Given the description of an element on the screen output the (x, y) to click on. 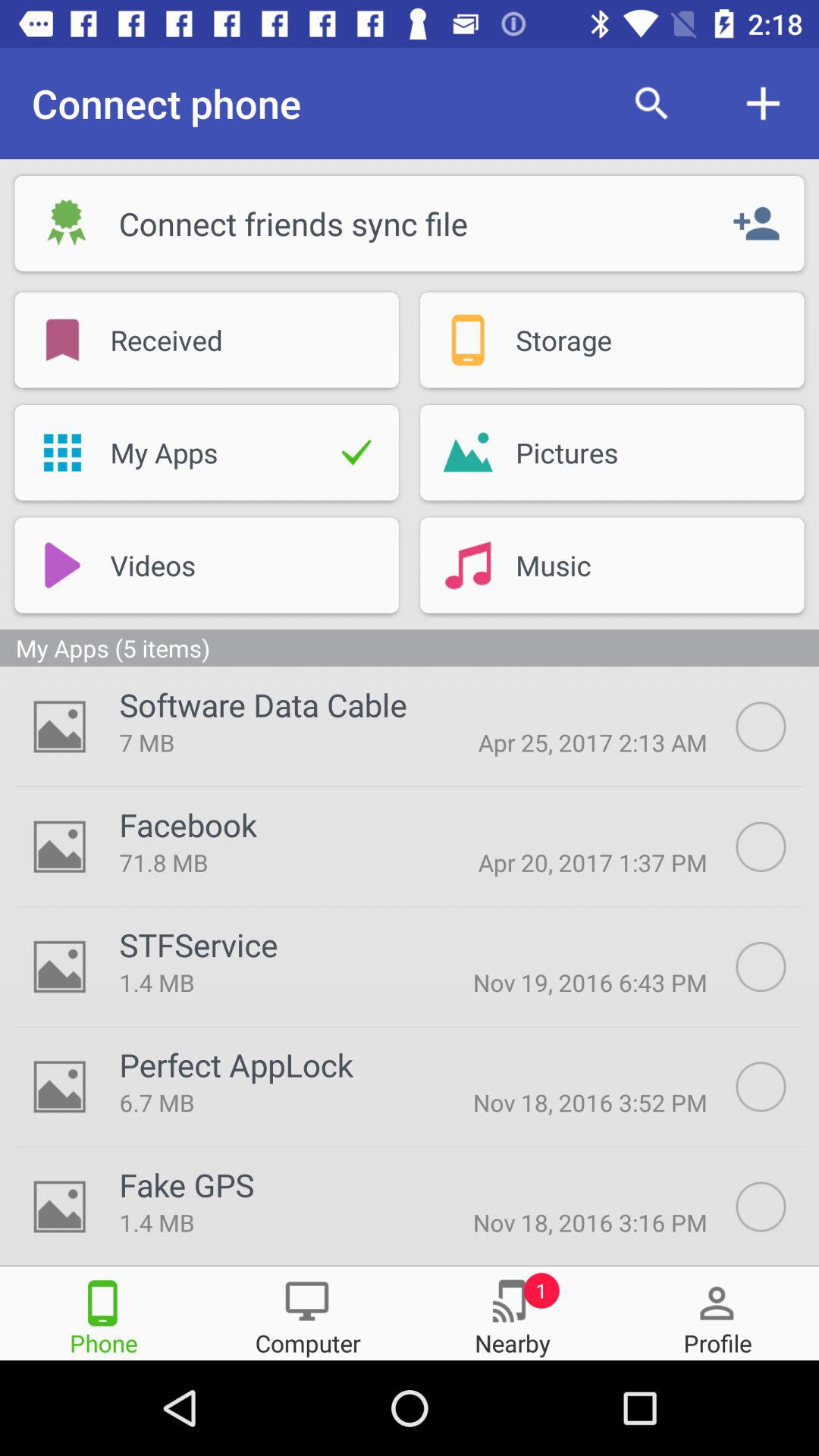
open app to the right of the received item (467, 339)
